Given the description of an element on the screen output the (x, y) to click on. 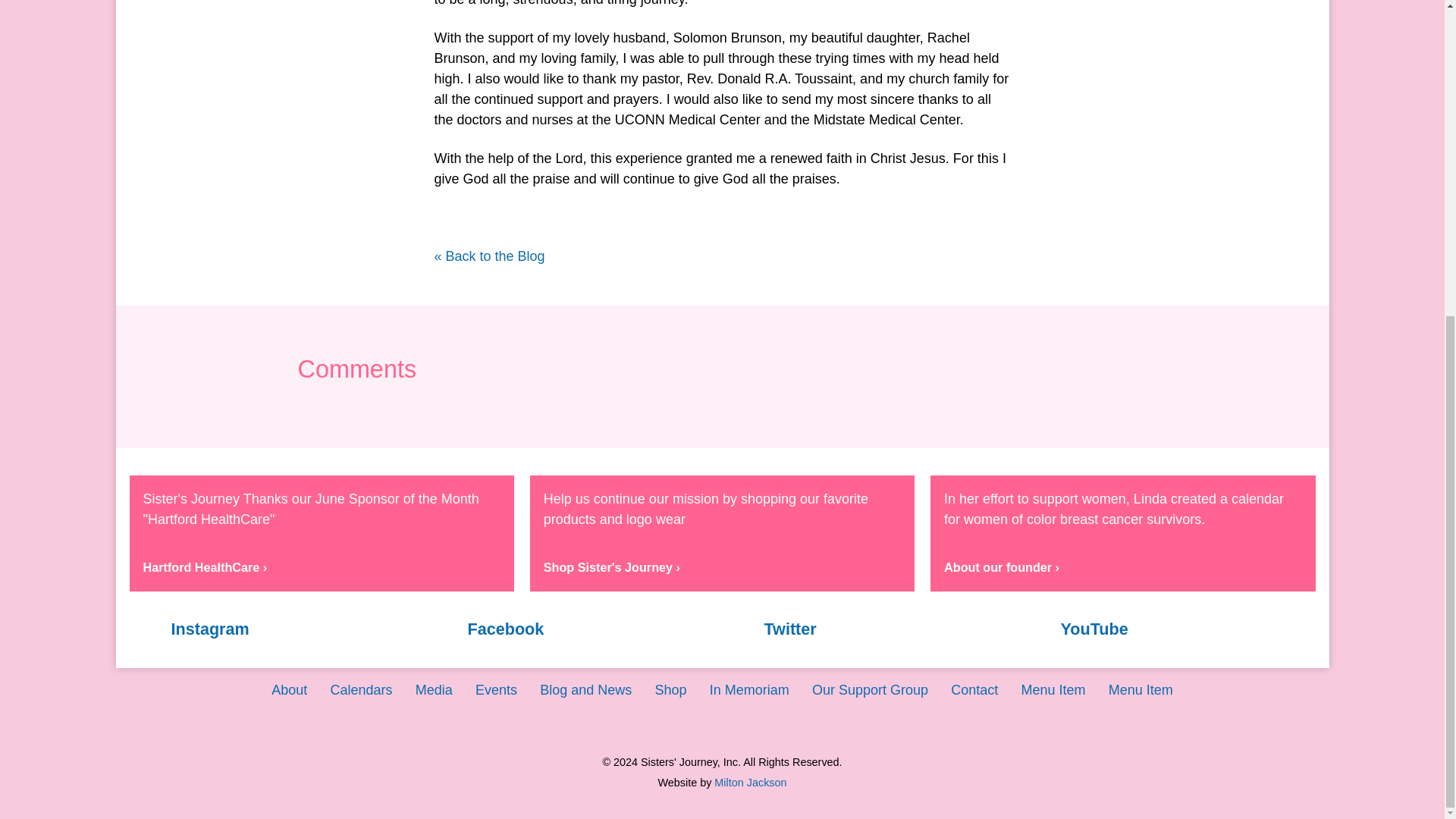
About (288, 690)
YouTube (1167, 629)
Twitter (869, 629)
Instagram (277, 629)
Facebook (574, 629)
